Given the description of an element on the screen output the (x, y) to click on. 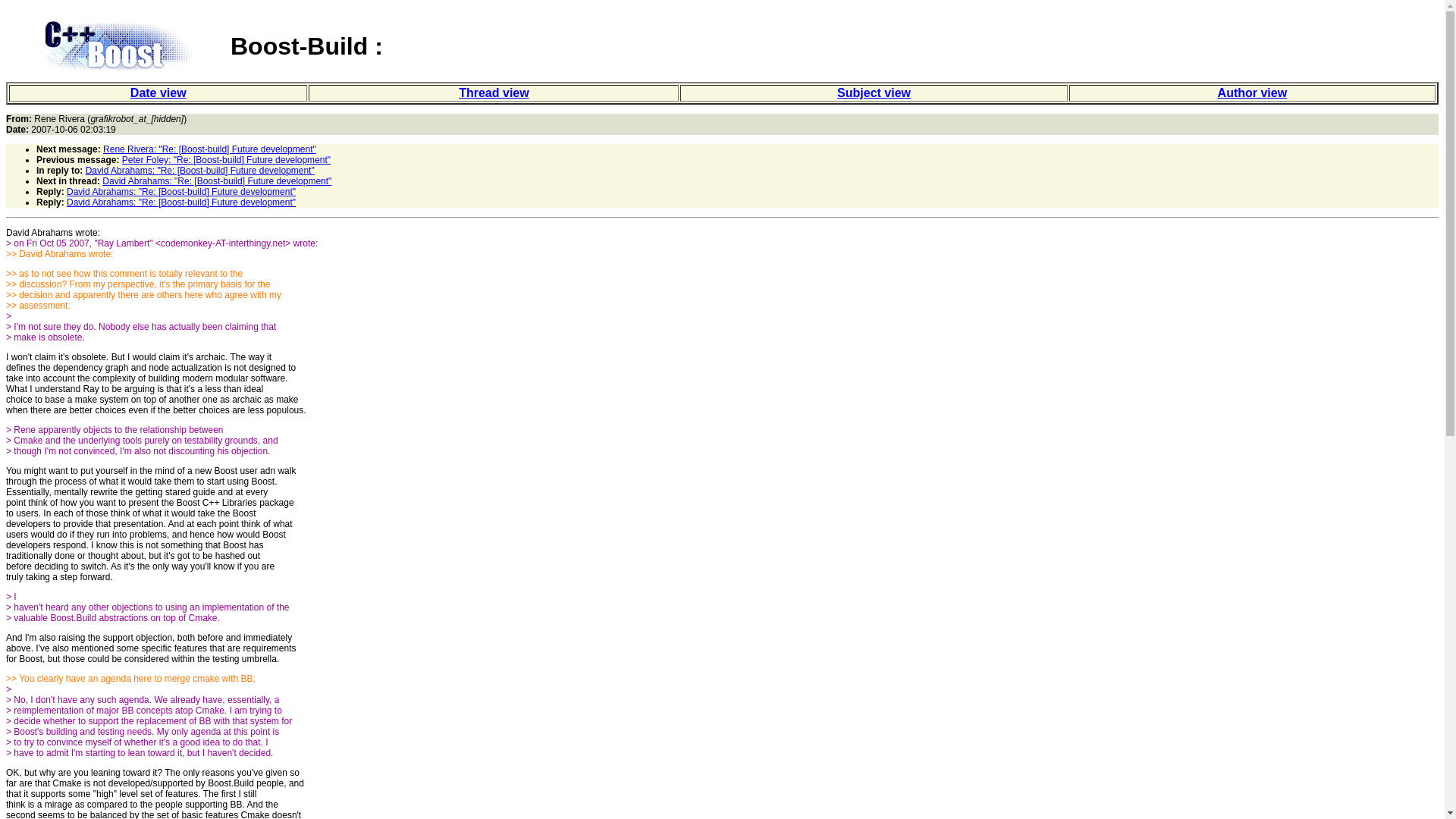
Thread view (493, 92)
Date view (158, 92)
Author view (1252, 92)
Subject view (874, 92)
